Given the description of an element on the screen output the (x, y) to click on. 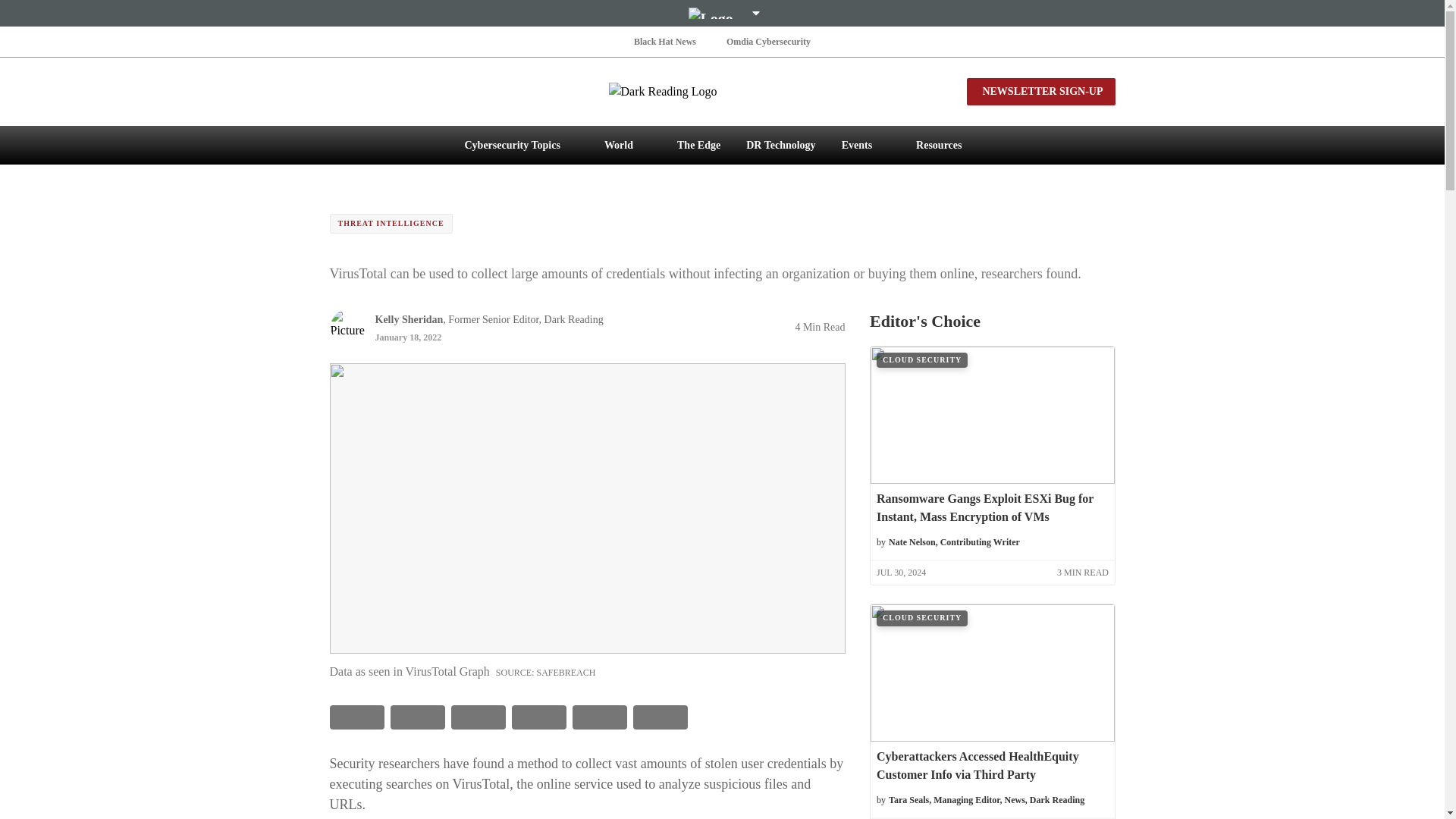
Omdia Cybersecurity (768, 41)
Black Hat News (664, 41)
Picture of Kelly Sheridan (347, 326)
NEWSLETTER SIGN-UP (1040, 90)
Dark Reading Logo (721, 91)
